Given the description of an element on the screen output the (x, y) to click on. 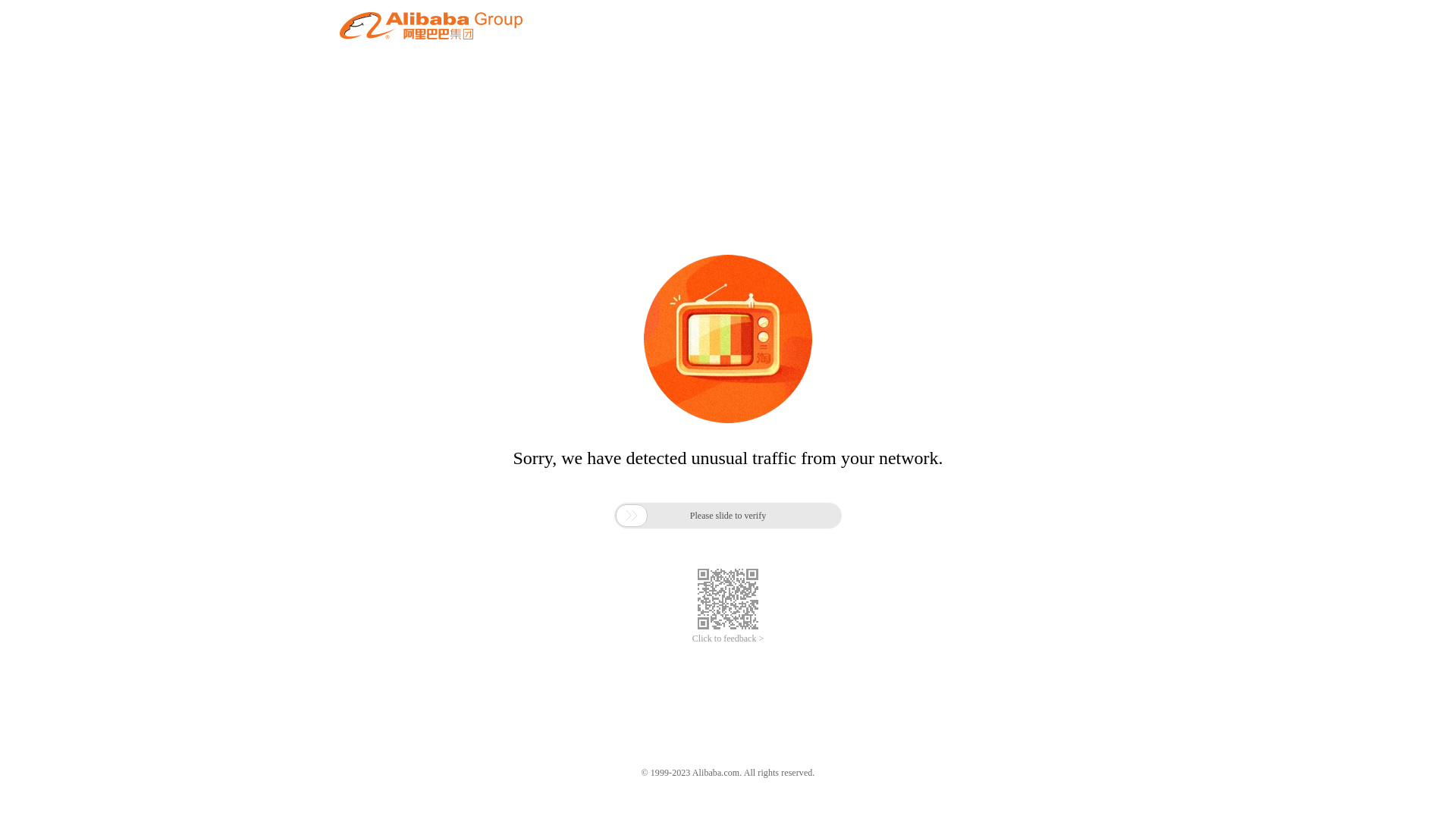
Click to feedback > Element type: text (727, 638)
